Given the description of an element on the screen output the (x, y) to click on. 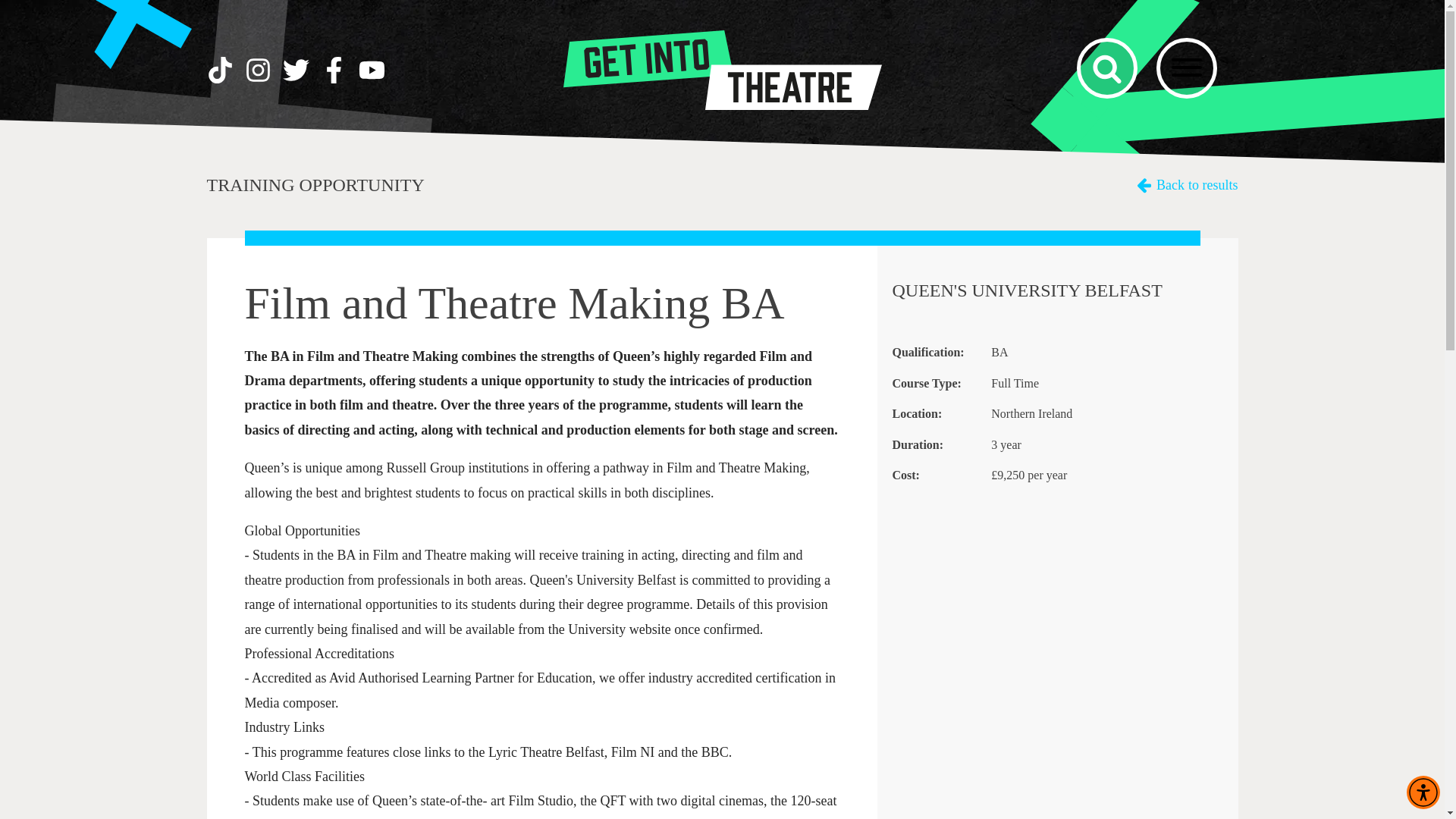
Accessibility Menu (1196, 185)
